Given the description of an element on the screen output the (x, y) to click on. 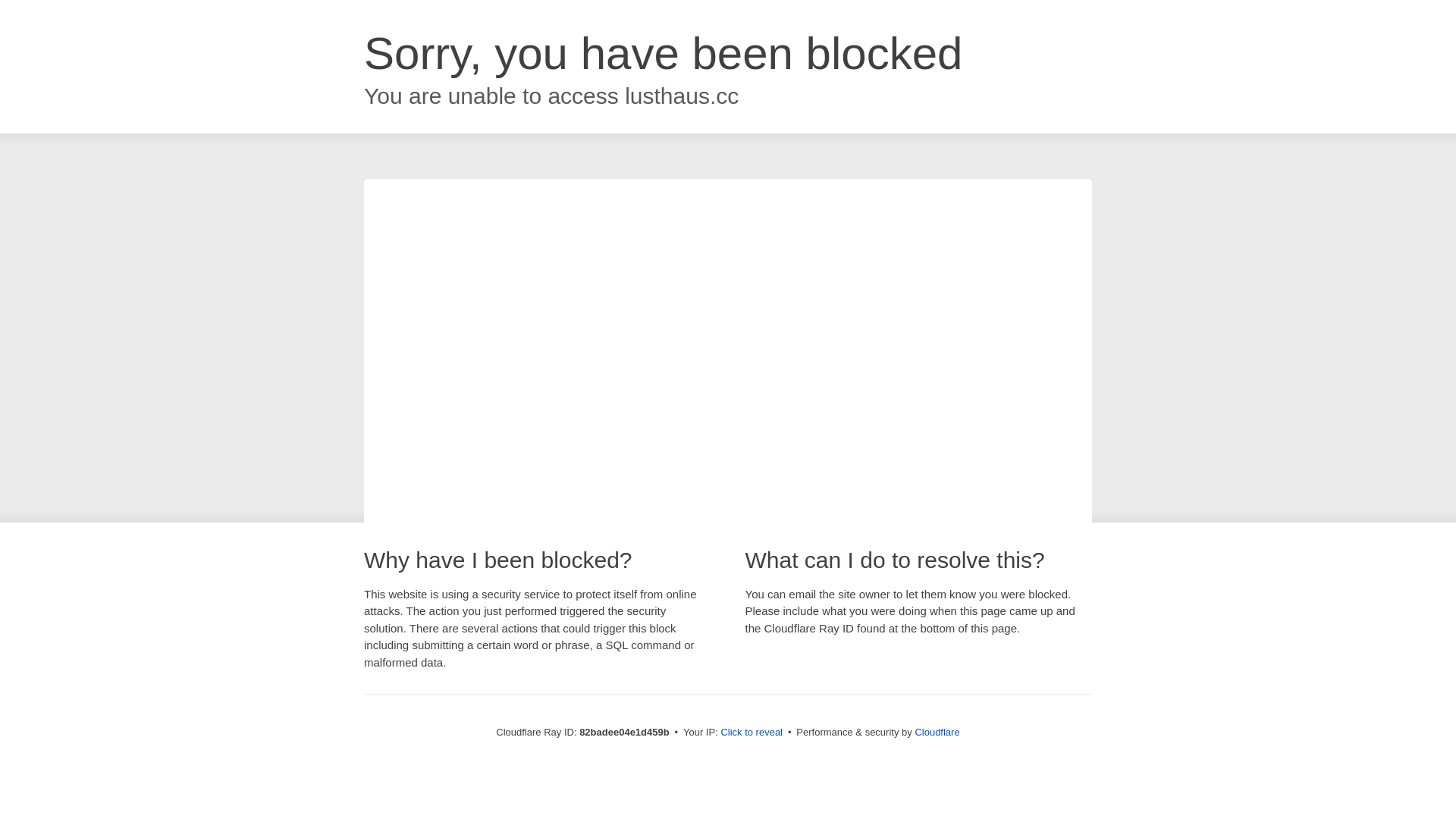
Click to reveal Element type: text (751, 732)
Cloudflare Element type: text (936, 731)
